Given the description of an element on the screen output the (x, y) to click on. 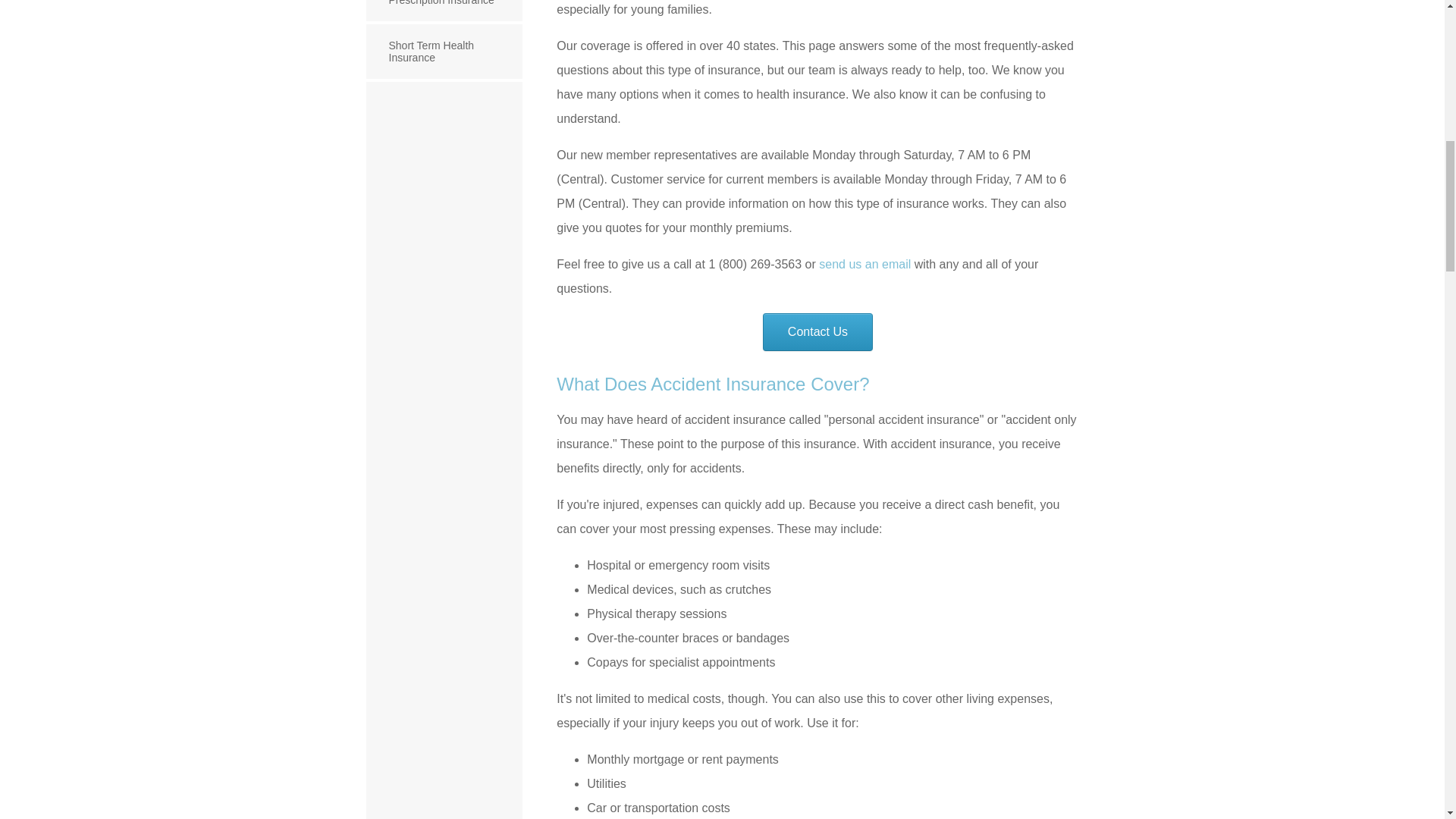
Prescription Insurance (443, 12)
Contact Us (817, 331)
send us an email (864, 264)
Short Term Health Insurance (443, 52)
